Given the description of an element on the screen output the (x, y) to click on. 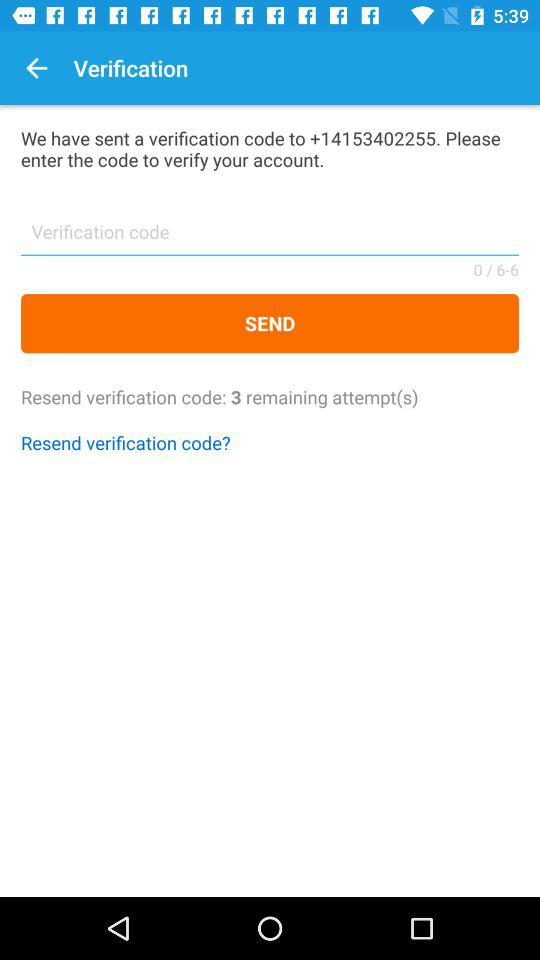
insert verification code (270, 238)
